Given the description of an element on the screen output the (x, y) to click on. 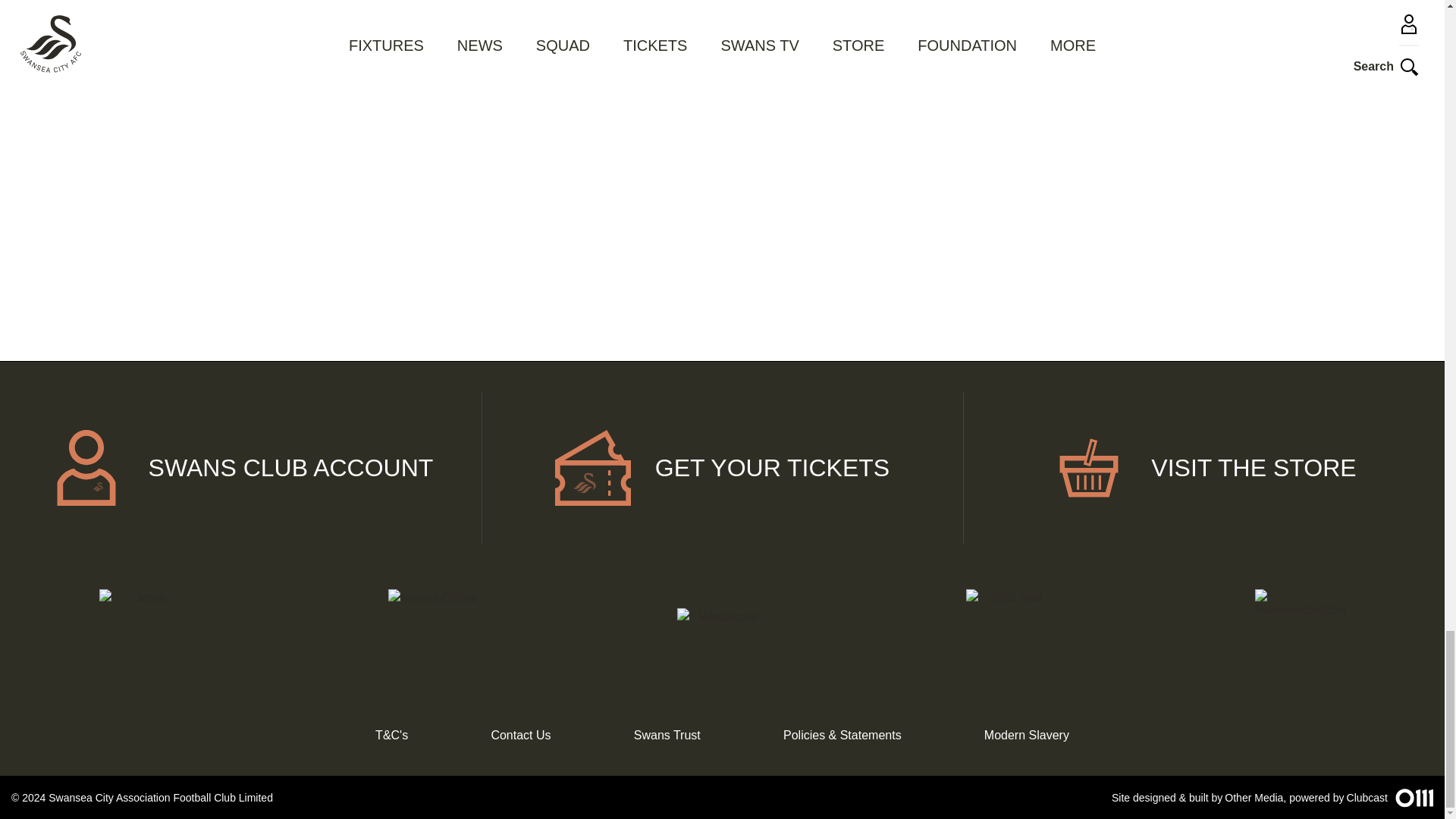
Swansea sponsor (1299, 634)
Swansea sponsor (722, 634)
Swansea sponsor (432, 634)
Swansea sponsor (144, 634)
Sign up or log into Swans Club Account (240, 467)
